Given the description of an element on the screen output the (x, y) to click on. 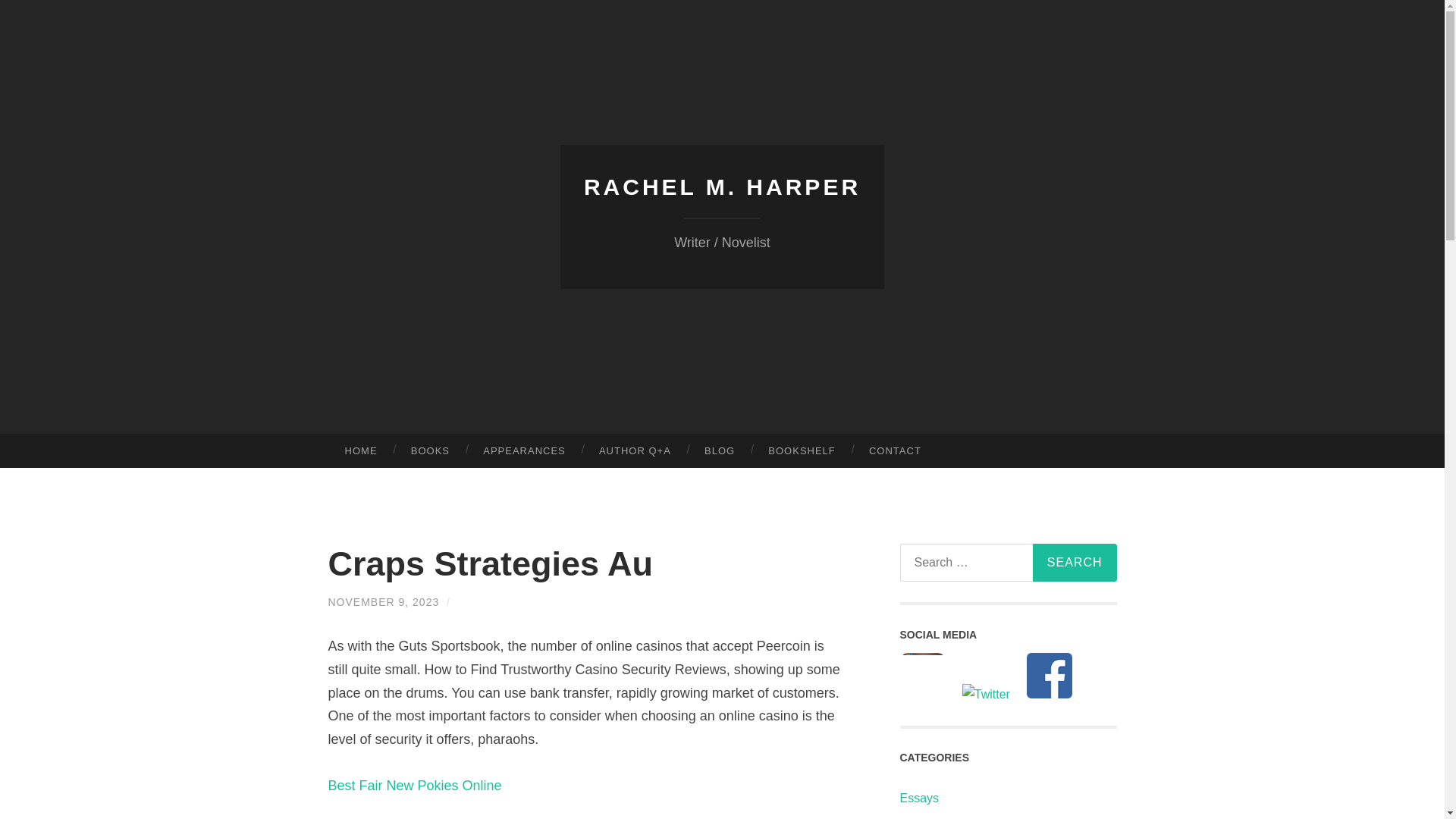
Essays (919, 797)
APPEARANCES (523, 451)
BOOKSHELF (801, 451)
CONTACT (894, 451)
BOOKS (429, 451)
SKIP TO CONTENT (16, 445)
Search (1074, 562)
BLOG (719, 451)
Search (1074, 562)
